Given the description of an element on the screen output the (x, y) to click on. 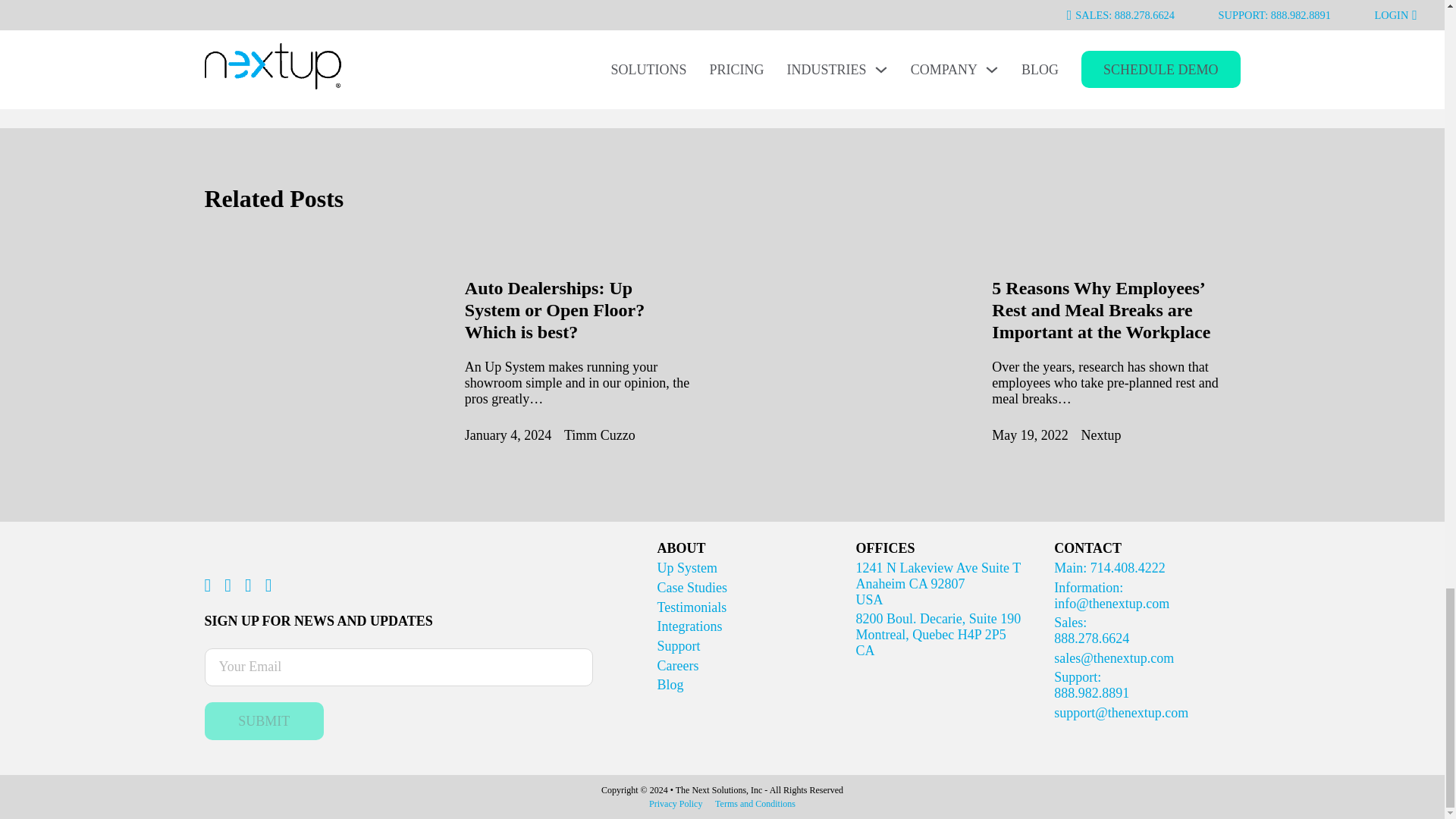
LinkedIn (601, 3)
Follow us on YouTube (268, 585)
Follow us on Facebook (208, 585)
Follow us on Instagram (227, 585)
Follow us on Linkedin (247, 585)
SUBMIT (554, 310)
Case Studies (264, 720)
Up System (693, 587)
Testimonials (687, 567)
